Given the description of an element on the screen output the (x, y) to click on. 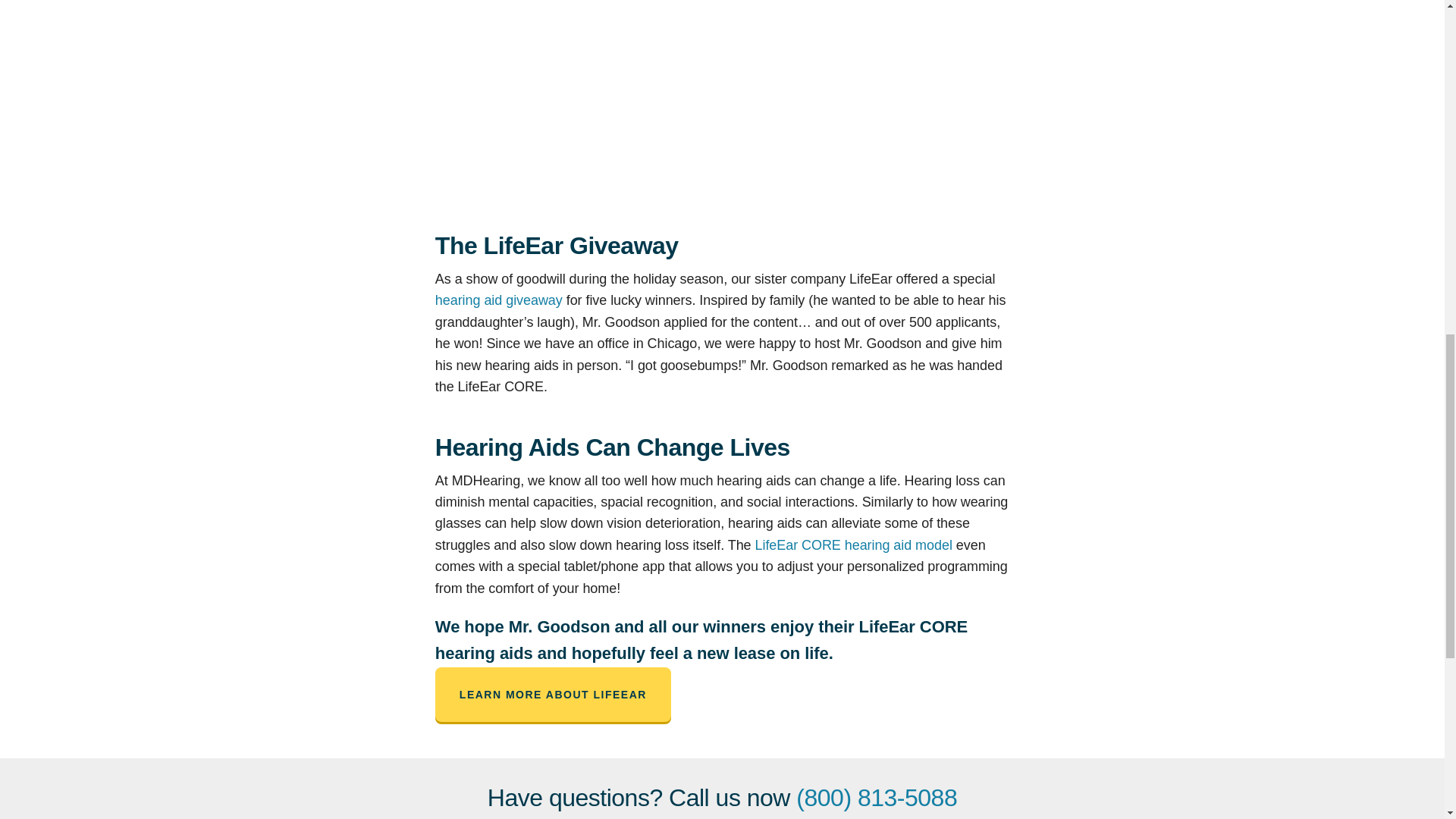
hearing aid giveaway (498, 299)
LEARN MORE ABOUT LIFEEAR (553, 694)
LifeEar CORE hearing aid model (853, 544)
